Given the description of an element on the screen output the (x, y) to click on. 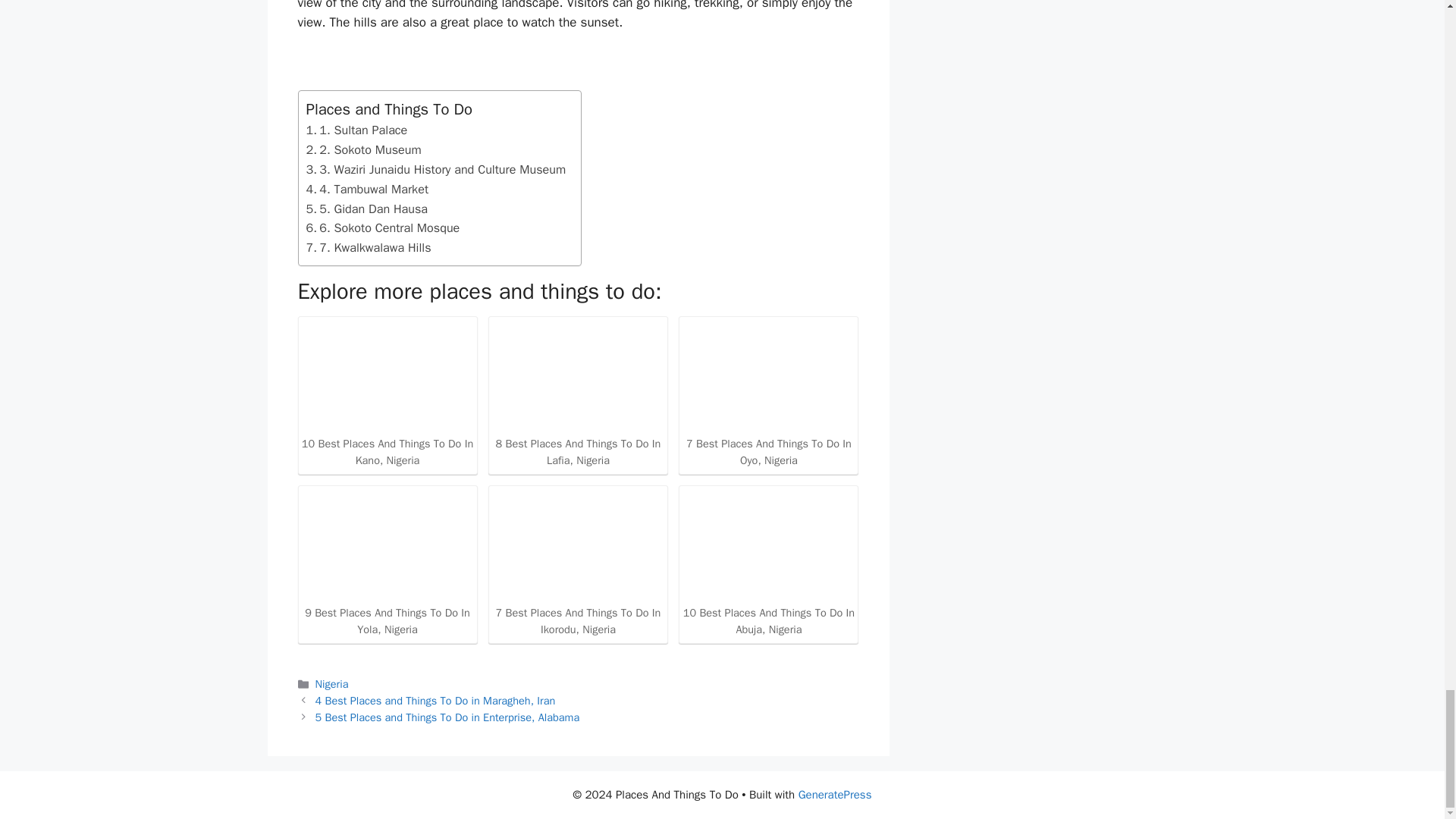
9 Best Places And Things To Do In Yola, Nigeria (387, 544)
6. Sokoto Central Mosque  (384, 228)
10 Best Places And Things To Do In Kano, Nigeria (386, 400)
7 Best Places And Things To Do In Ikorodu, Nigeria (577, 544)
10 Best Places And Things To Do In Kano, Nigeria (387, 376)
5 Best Places and Things To Do in Enterprise, Alabama (447, 716)
4 Best Places and Things To Do in Maragheh, Iran (435, 700)
4. Tambuwal Market (367, 189)
7 Best Places And Things To Do In Oyo, Nigeria (768, 395)
2. Sokoto Museum (363, 149)
2. Sokoto Museum (363, 149)
3. Waziri Junaidu History and Culture Museum (435, 169)
1. Sultan Palace (356, 130)
4. Tambuwal Market (367, 189)
1. Sultan Palace (356, 130)
